Given the description of an element on the screen output the (x, y) to click on. 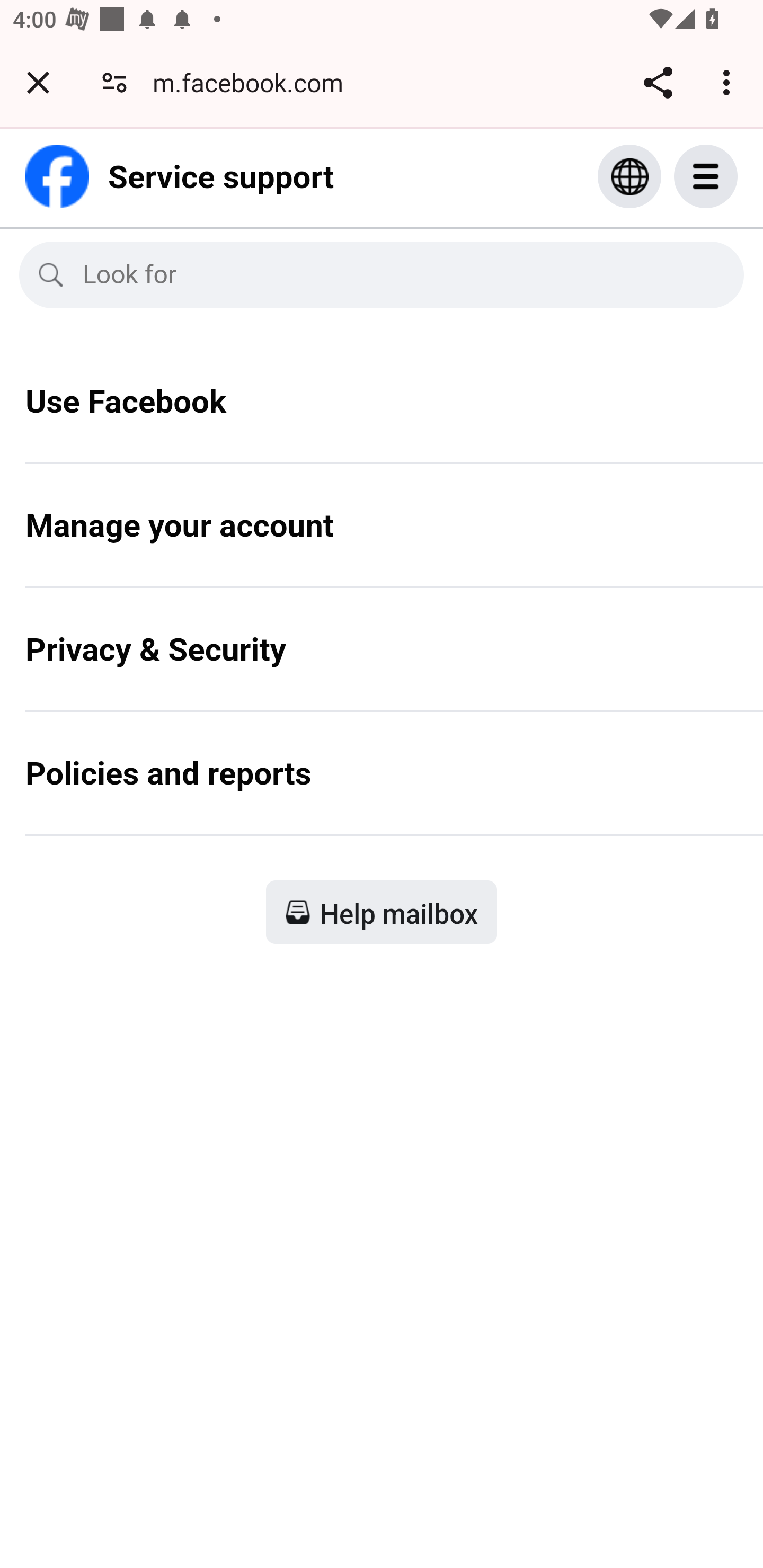
Close tab (38, 82)
Share (657, 82)
Customize and control Google Chrome (729, 82)
Connection is secure (114, 81)
m.facebook.com (254, 81)
Service support S9-8mgjtmdP Service support (180, 176)
Select language (629, 176)
Help Desk Menu (724, 176)
Use Facebook (381, 414)
Manage your account (381, 538)
Privacy & Security (381, 662)
Policies and reports (381, 786)
Help mailbox (381, 911)
